Given the description of an element on the screen output the (x, y) to click on. 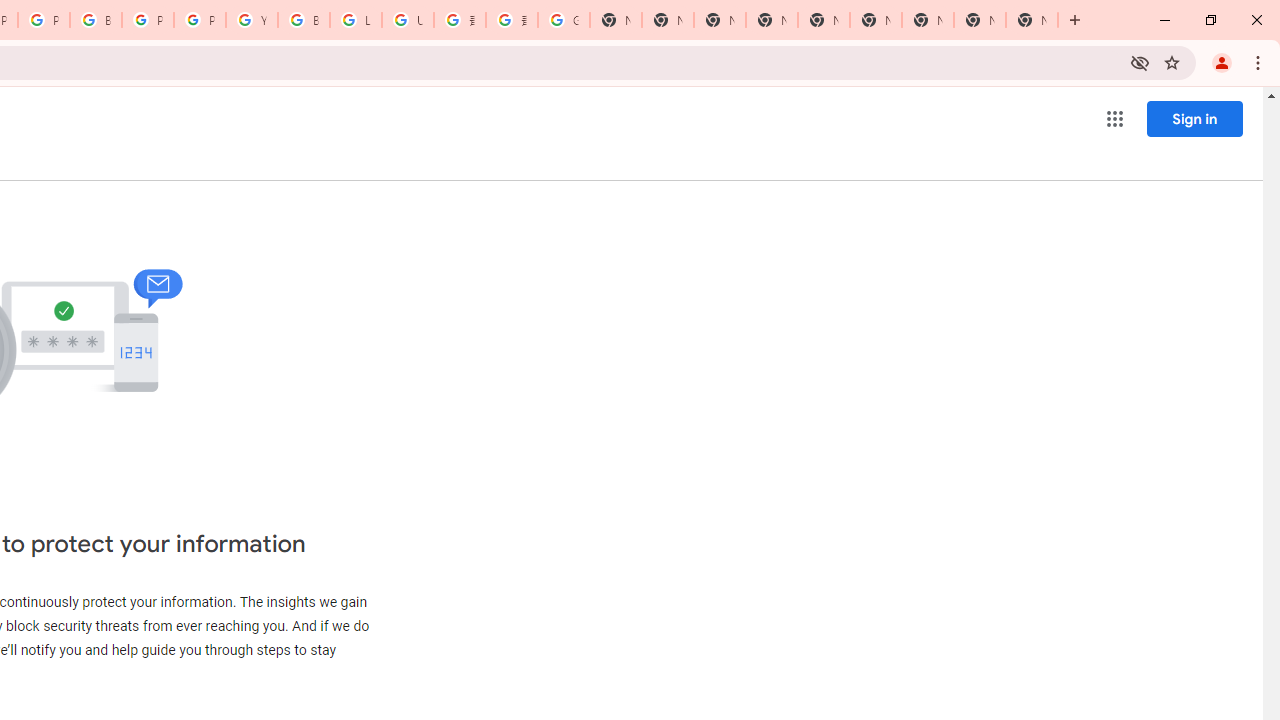
New Tab (771, 20)
New Tab (1032, 20)
